Given the description of an element on the screen output the (x, y) to click on. 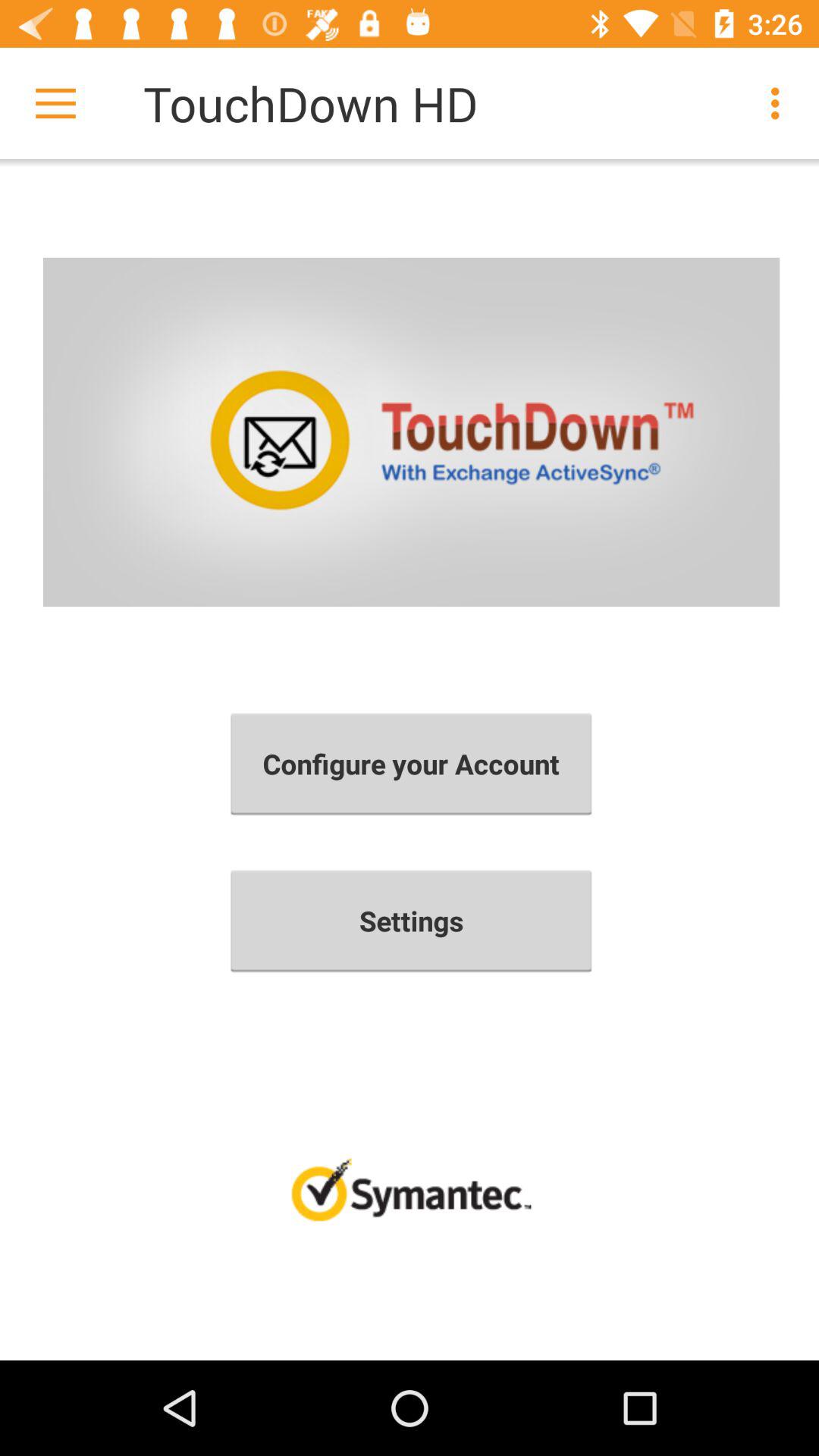
turn off the item next to the touchdown hd (779, 103)
